Given the description of an element on the screen output the (x, y) to click on. 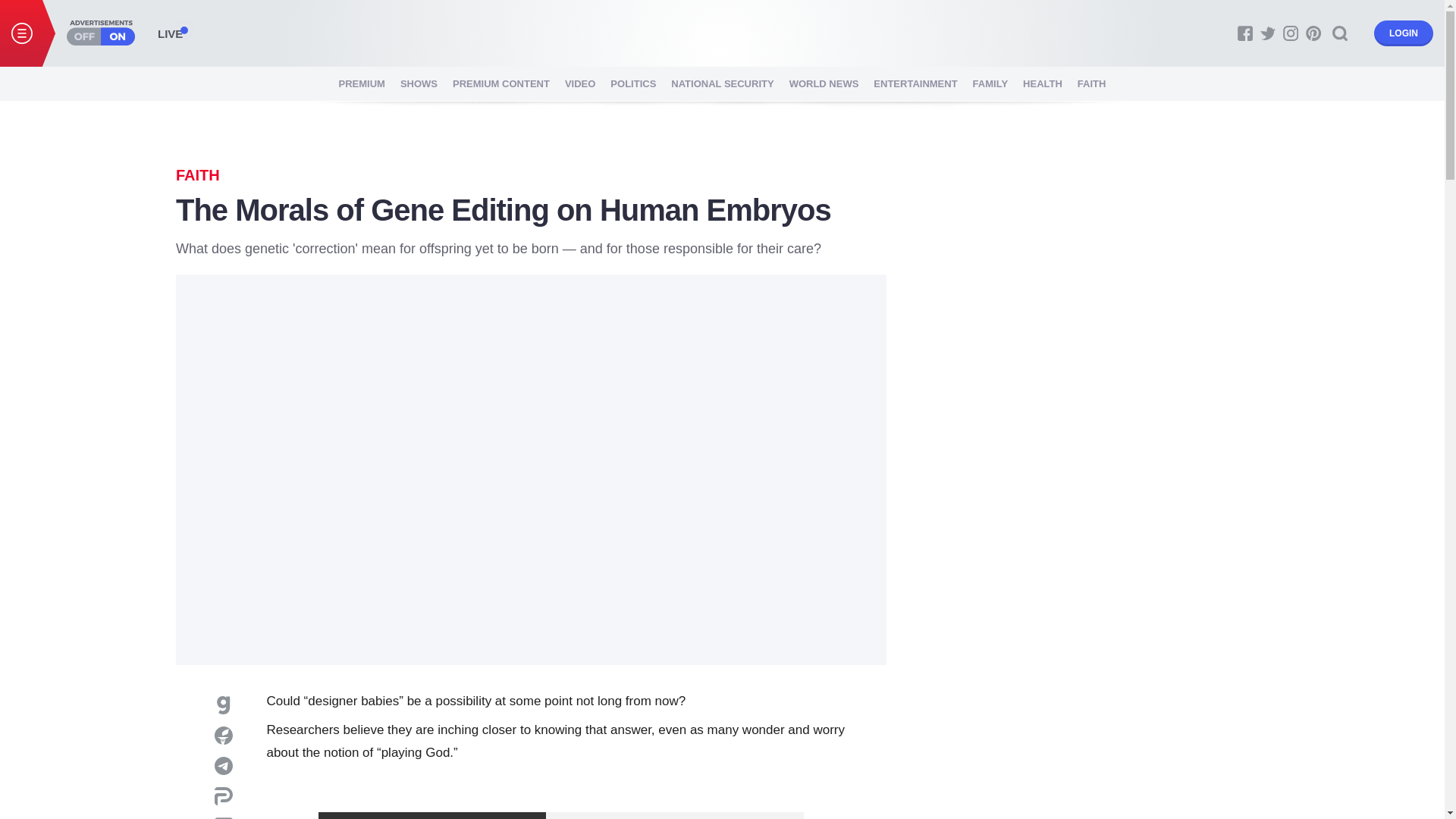
PREMIUM (362, 83)
Instagram (1290, 32)
SHOWS (419, 83)
LOGIN (1403, 32)
Facebook (1244, 32)
Pinterest (1313, 32)
WORLD NEWS (823, 83)
Search (1339, 33)
Twitter (1267, 32)
The Morals of Gene Editing on Human Embryos (722, 32)
POLITICS (632, 83)
LIVE (169, 32)
VIDEO (579, 83)
PREMIUM CONTENT (501, 83)
NATIONAL SECURITY (721, 83)
